Given the description of an element on the screen output the (x, y) to click on. 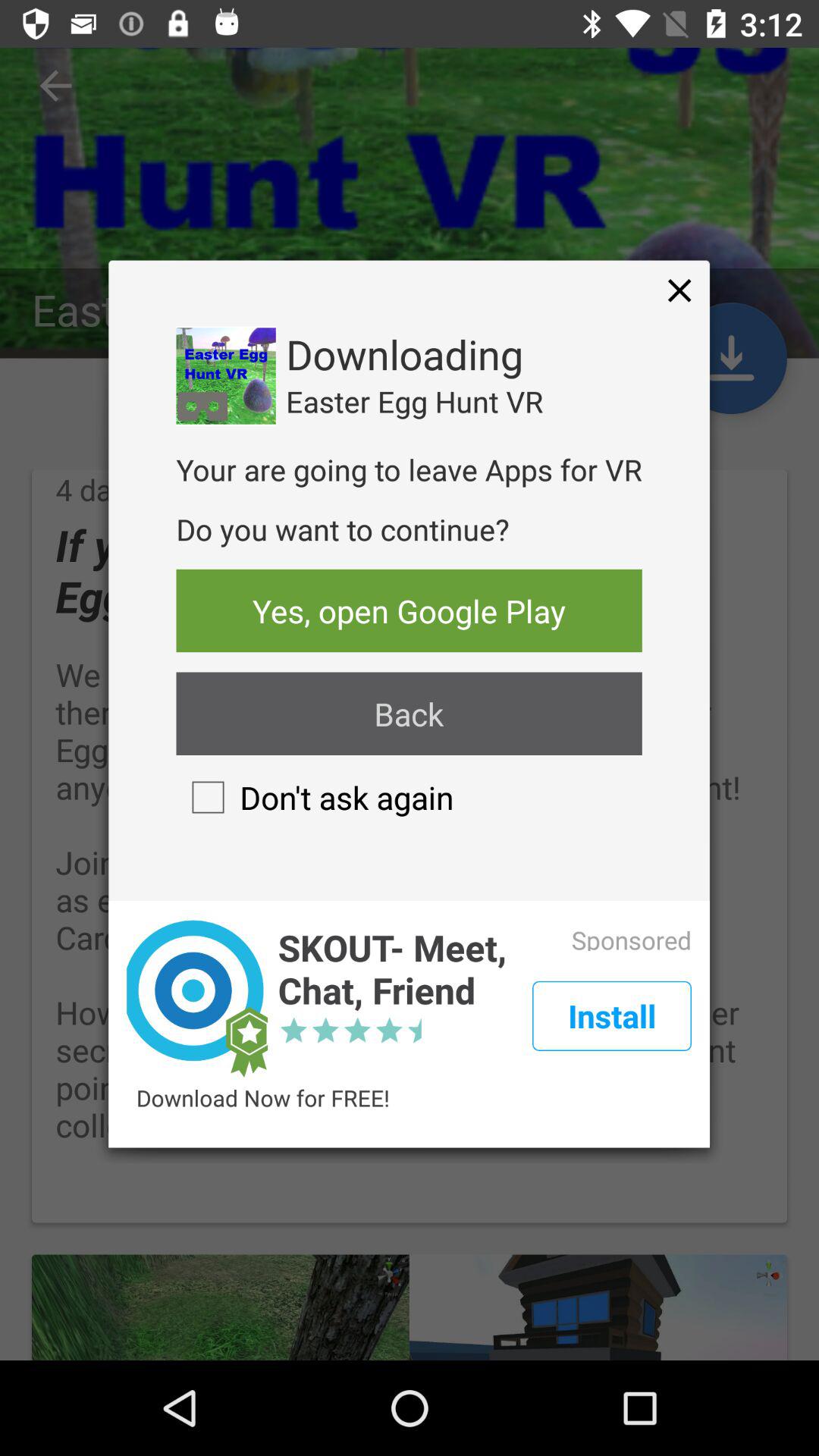
press the icon below the yes open google item (409, 713)
